Given the description of an element on the screen output the (x, y) to click on. 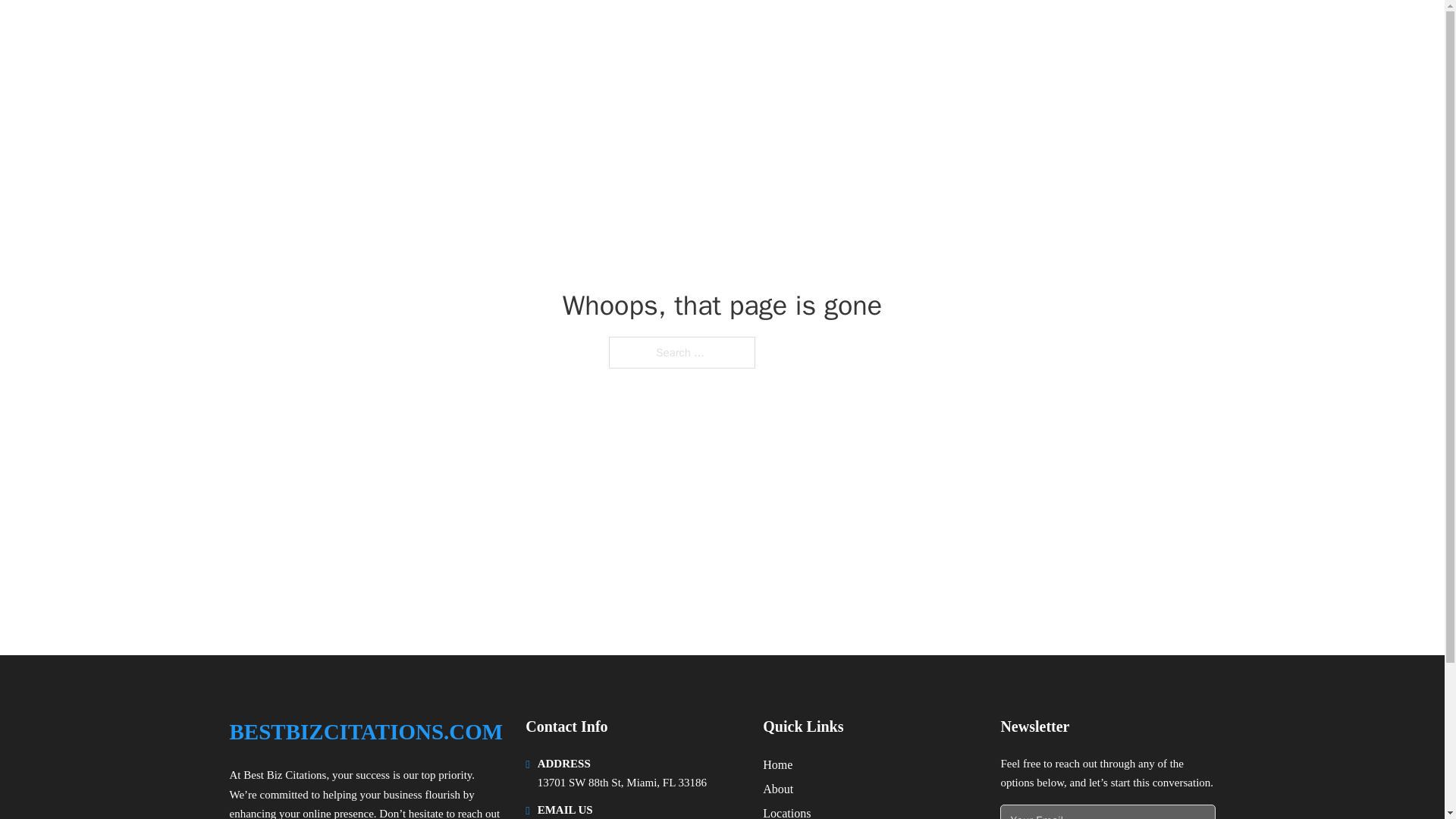
BESTBIZCITATIONS.COM (379, 31)
About (777, 788)
HOME (1025, 31)
Home (777, 764)
BESTBIZCITATIONS.COM (365, 732)
LOCATIONS (1098, 31)
Locations (786, 811)
